Given the description of an element on the screen output the (x, y) to click on. 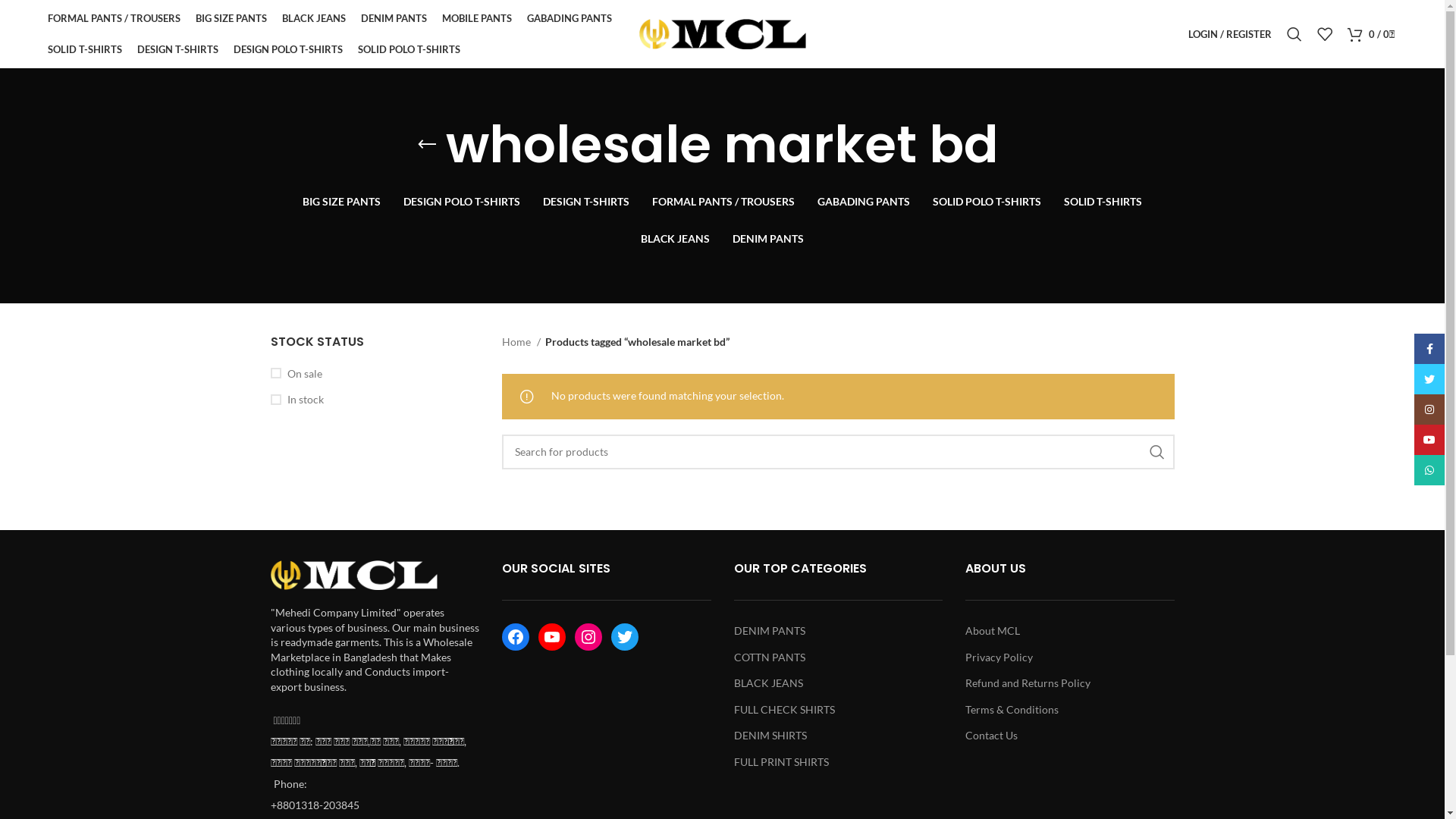
Search for products Element type: hover (838, 451)
FULL CHECK SHIRTS Element type: text (784, 708)
In stock Element type: text (374, 399)
FORMAL PANTS / TROUSERS Element type: text (113, 18)
SOLID T-SHIRTS Element type: text (84, 49)
FULL PRINT SHIRTS Element type: text (781, 761)
Privacy Policy Element type: text (998, 656)
SOLID T-SHIRTS Element type: text (1102, 201)
DESIGN POLO T-SHIRTS Element type: text (461, 201)
DENIM PANTS Element type: text (769, 630)
DESIGN POLO T-SHIRTS Element type: text (287, 49)
FORMAL PANTS / TROUSERS Element type: text (723, 201)
BIG SIZE PANTS Element type: text (341, 201)
MOBILE PANTS Element type: text (476, 18)
On sale Element type: text (374, 373)
Search Element type: hover (1294, 33)
About MCL Element type: text (992, 630)
BLACK JEANS Element type: text (674, 238)
GABADING PANTS Element type: text (863, 201)
COTTN PANTS Element type: text (769, 656)
SOLID POLO T-SHIRTS Element type: text (986, 201)
SOLID POLO T-SHIRTS Element type: text (408, 49)
DESIGN T-SHIRTS Element type: text (585, 201)
LOGIN / REGISTER Element type: text (1229, 33)
DENIM SHIRTS Element type: text (770, 734)
DESIGN T-SHIRTS Element type: text (177, 49)
GABADING PANTS Element type: text (569, 18)
BLACK JEANS Element type: text (313, 18)
SEARCH Element type: text (1156, 451)
DENIM PANTS Element type: text (767, 238)
Contact Us Element type: text (991, 734)
BIG SIZE PANTS Element type: text (230, 18)
Refund and Returns Policy Element type: text (1027, 682)
DENIM PANTS Element type: text (393, 18)
BLACK JEANS Element type: text (768, 682)
Terms & Conditions Element type: text (1011, 708)
My Wishlist Element type: hover (1324, 33)
Home Element type: text (521, 341)
